Given the description of an element on the screen output the (x, y) to click on. 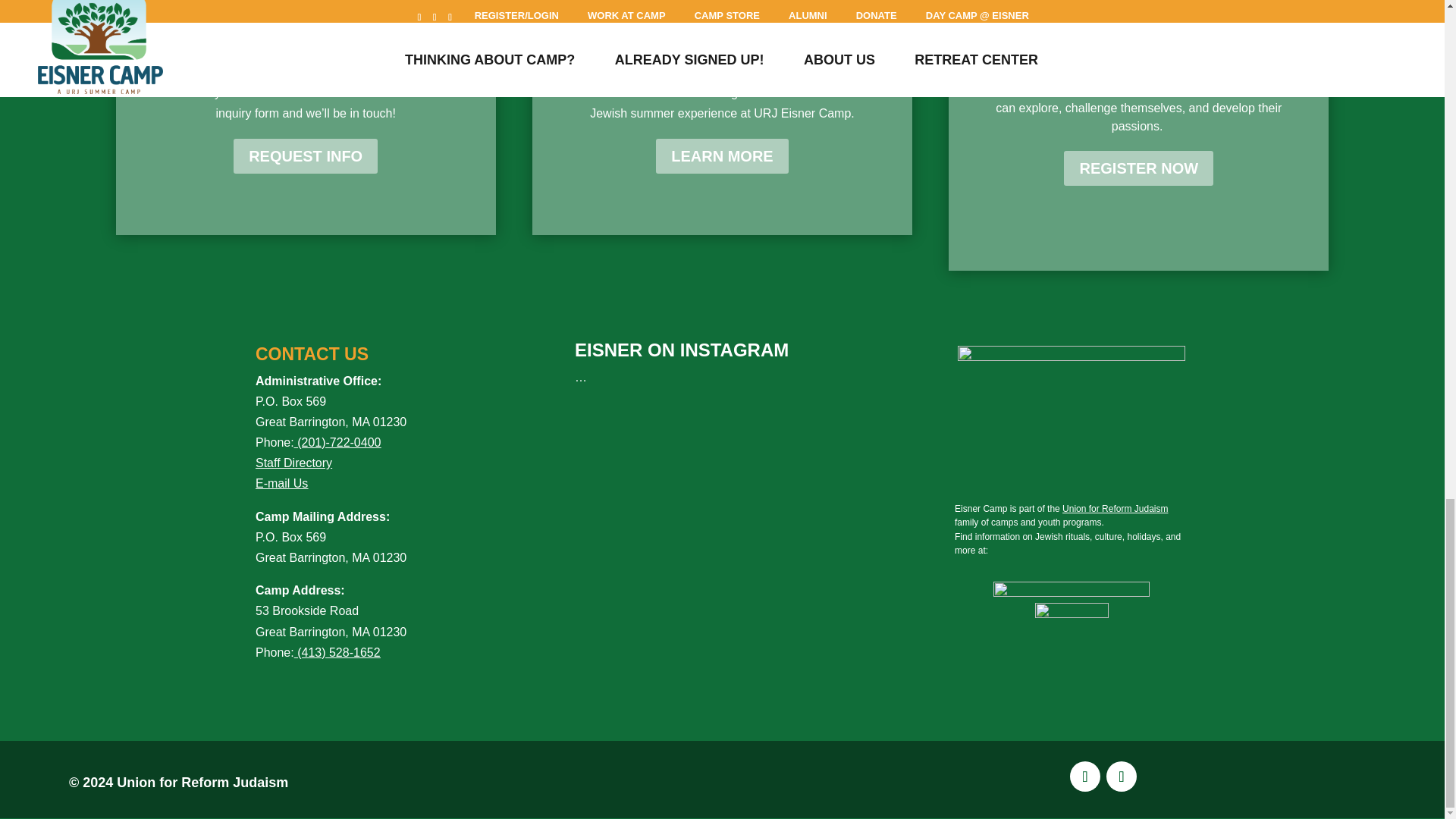
Great Barrington, MA 01230 (331, 631)
Follow on Facebook (1085, 776)
E-mail Us (293, 493)
REQUEST INFO (304, 155)
Union for Reform Judaism (1114, 507)
LEARN MORE (721, 155)
53 Brookside Road (307, 610)
REGISTER NOW (1138, 167)
Follow on Instagram (1121, 776)
Staff Directory (293, 462)
